Given the description of an element on the screen output the (x, y) to click on. 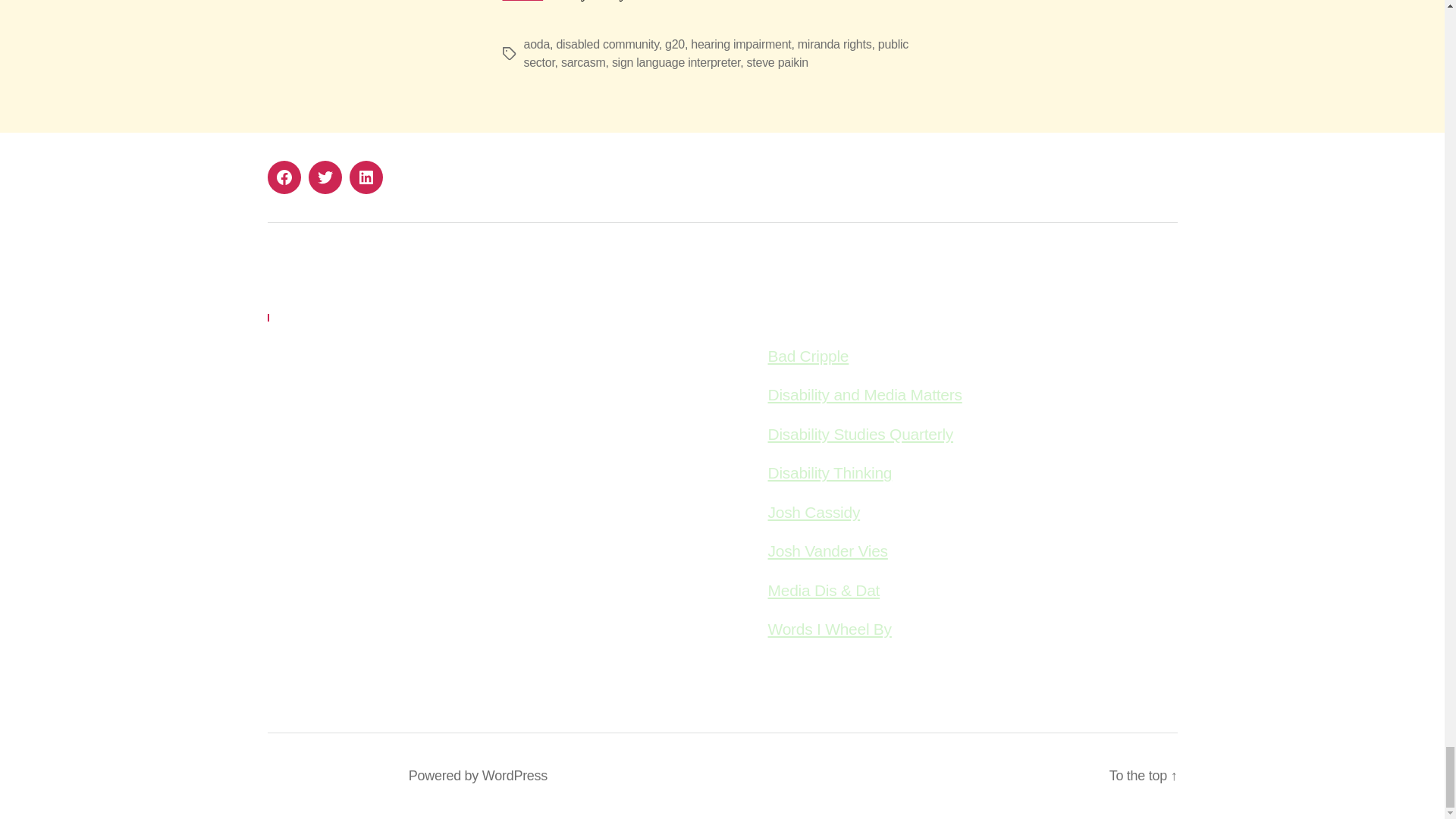
The famous disability studies journal (860, 434)
